Given the description of an element on the screen output the (x, y) to click on. 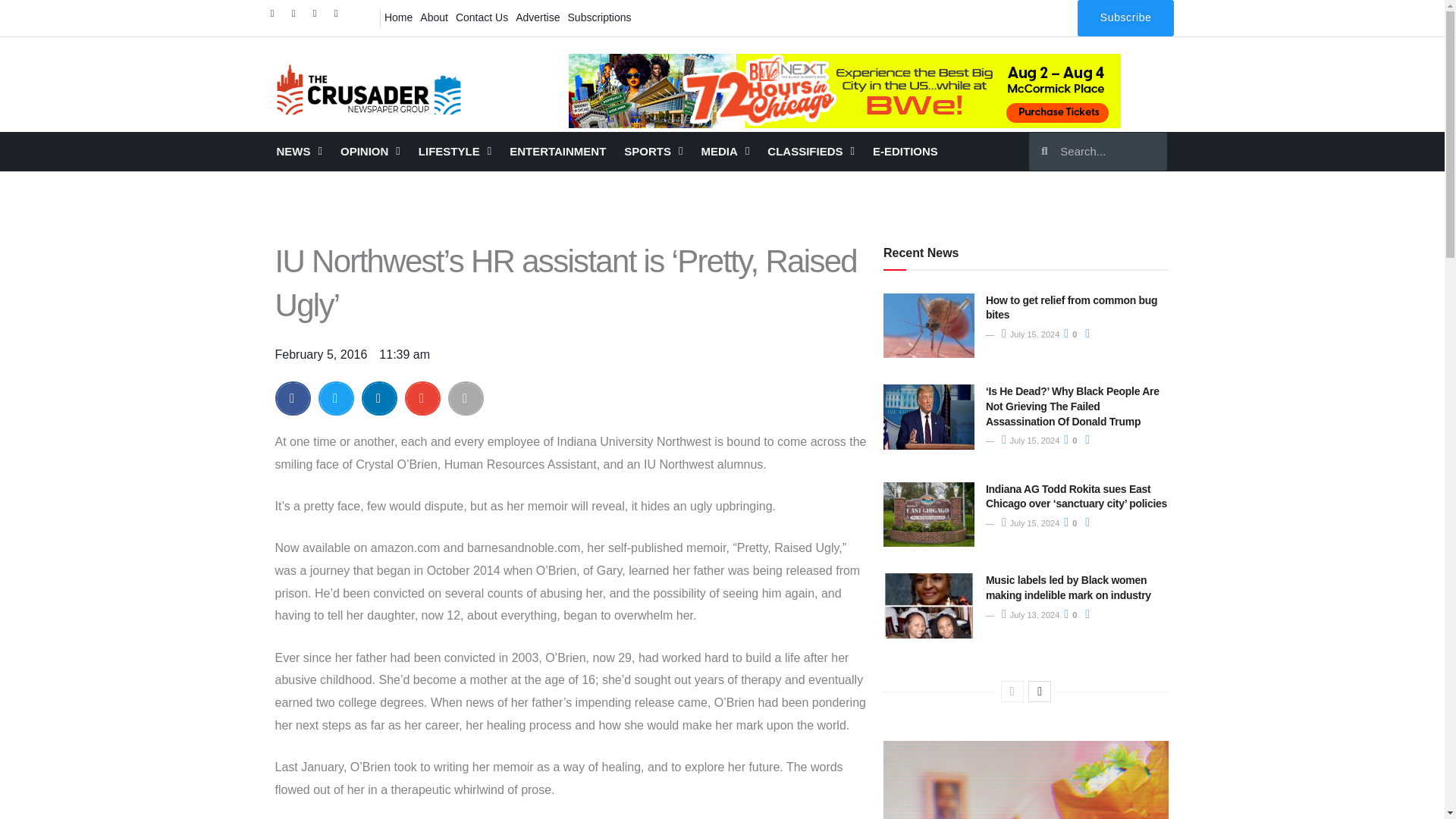
Twitter (297, 17)
Youtube (340, 17)
LIFESTYLE (454, 151)
Advertise (537, 17)
Subscribe (1125, 18)
Previous (1012, 690)
Facebook-f (276, 17)
About (433, 17)
Next (1039, 690)
Contact Us (481, 17)
OPINION (370, 151)
NEWS (298, 151)
Subscriptions (599, 17)
Home (398, 17)
50th Anniversary-Lottery-RIGHT VERTICAL BANNER (1026, 780)
